Given the description of an element on the screen output the (x, y) to click on. 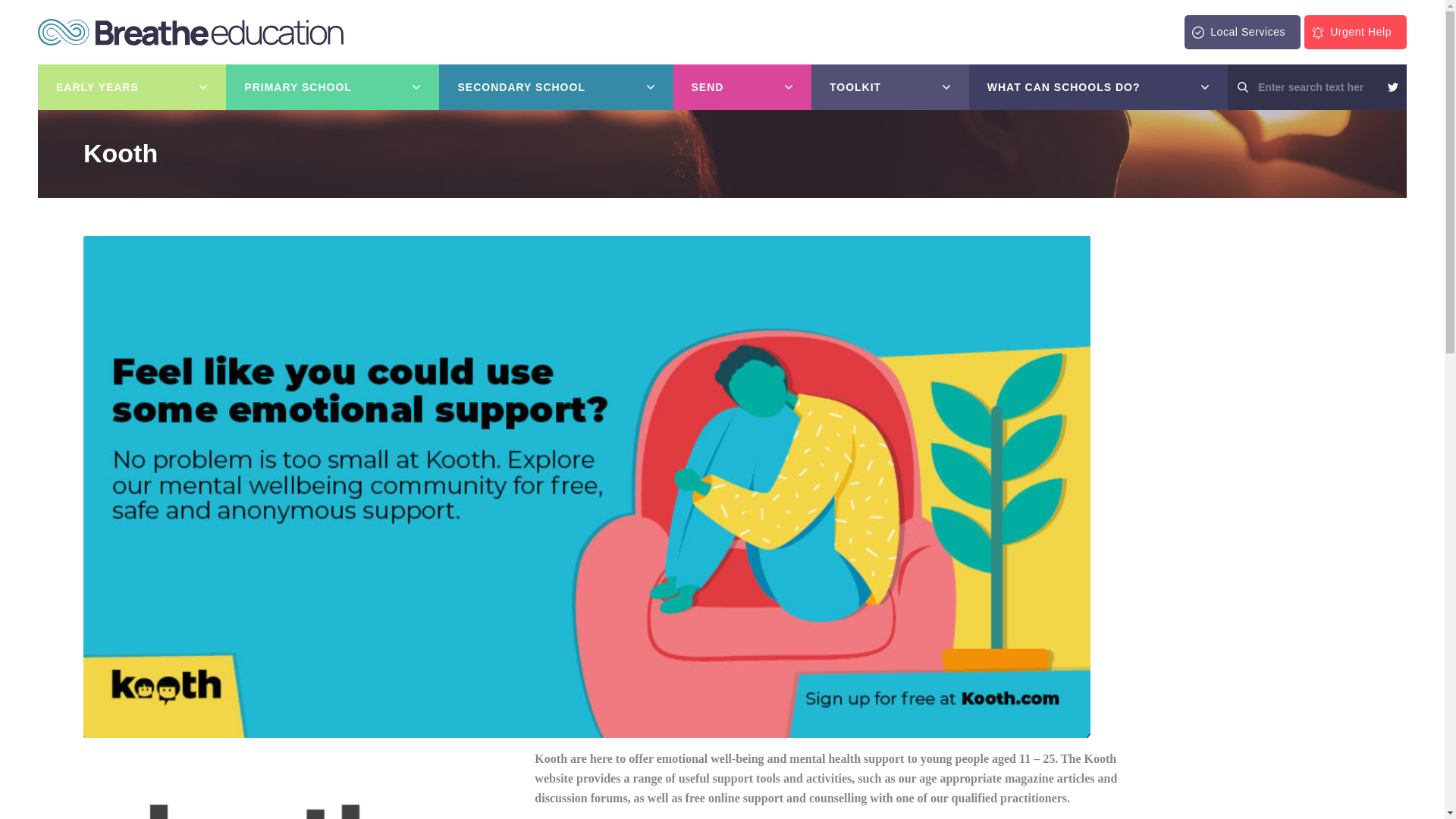
EARLY YEARS (131, 86)
SEND (741, 86)
TOOLKIT (889, 86)
Urgent Help (1355, 32)
Kooth logo (270, 778)
SECONDARY SCHOOL (555, 86)
Local Services (1242, 32)
Permanent Link: Kooth (119, 152)
PRIMARY SCHOOL (332, 86)
